Given the description of an element on the screen output the (x, y) to click on. 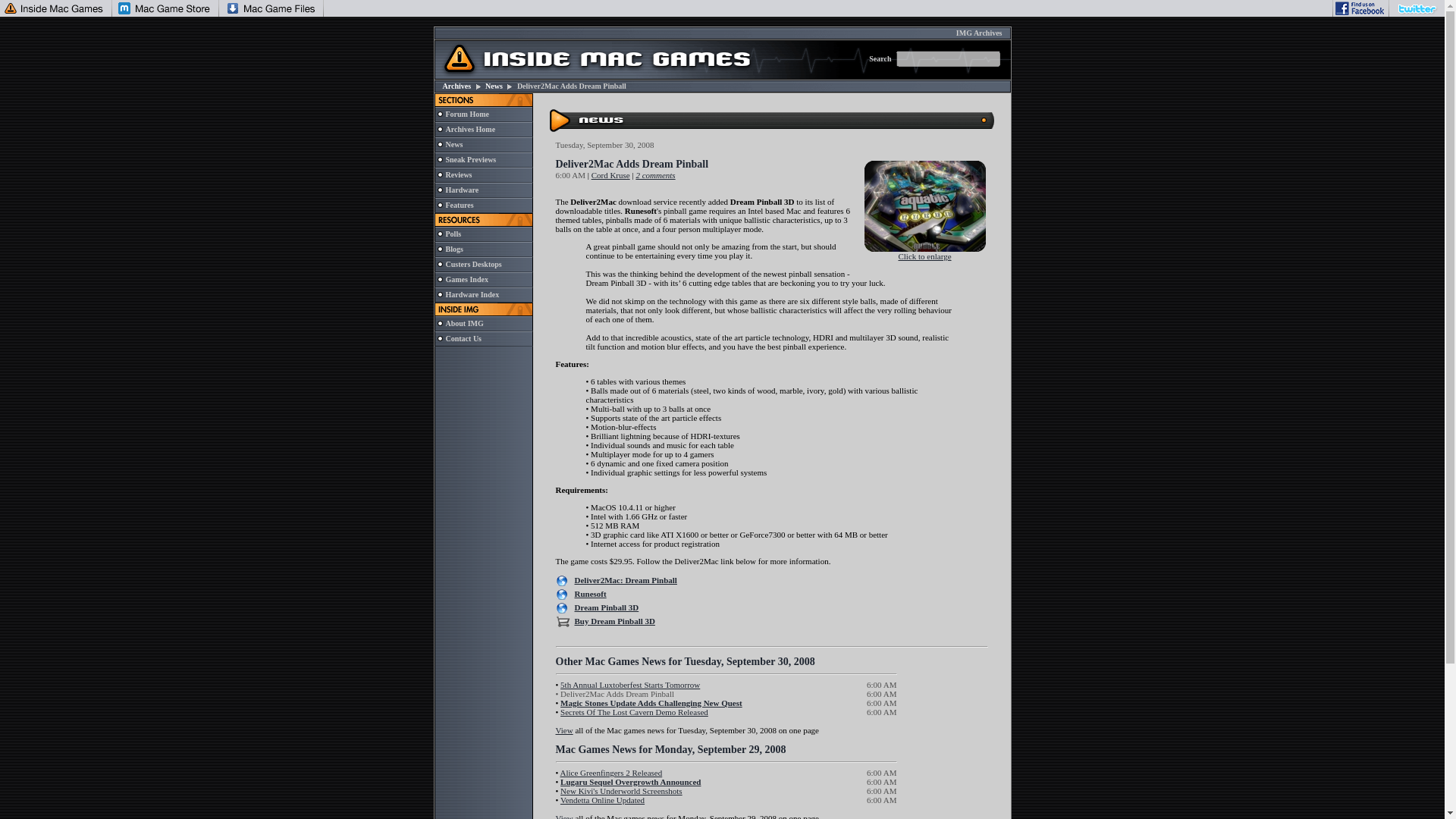
Secrets Of The Lost Cavern Demo Released (633, 711)
New Kivi's Underworld Screenshots (621, 790)
2 comments (654, 174)
Blogs (454, 248)
Features (459, 204)
Sneak Previews (470, 159)
Custers Desktops (473, 264)
Buy Dream Pinball 3D (615, 620)
View (563, 816)
Polls (453, 234)
Archives (456, 85)
5th Annual Luxtoberfest Starts Tomorrow (630, 684)
Lugaru Sequel Overgrowth Announced (630, 781)
Reviews (458, 174)
Dream Pinball 3D (607, 606)
